Given the description of an element on the screen output the (x, y) to click on. 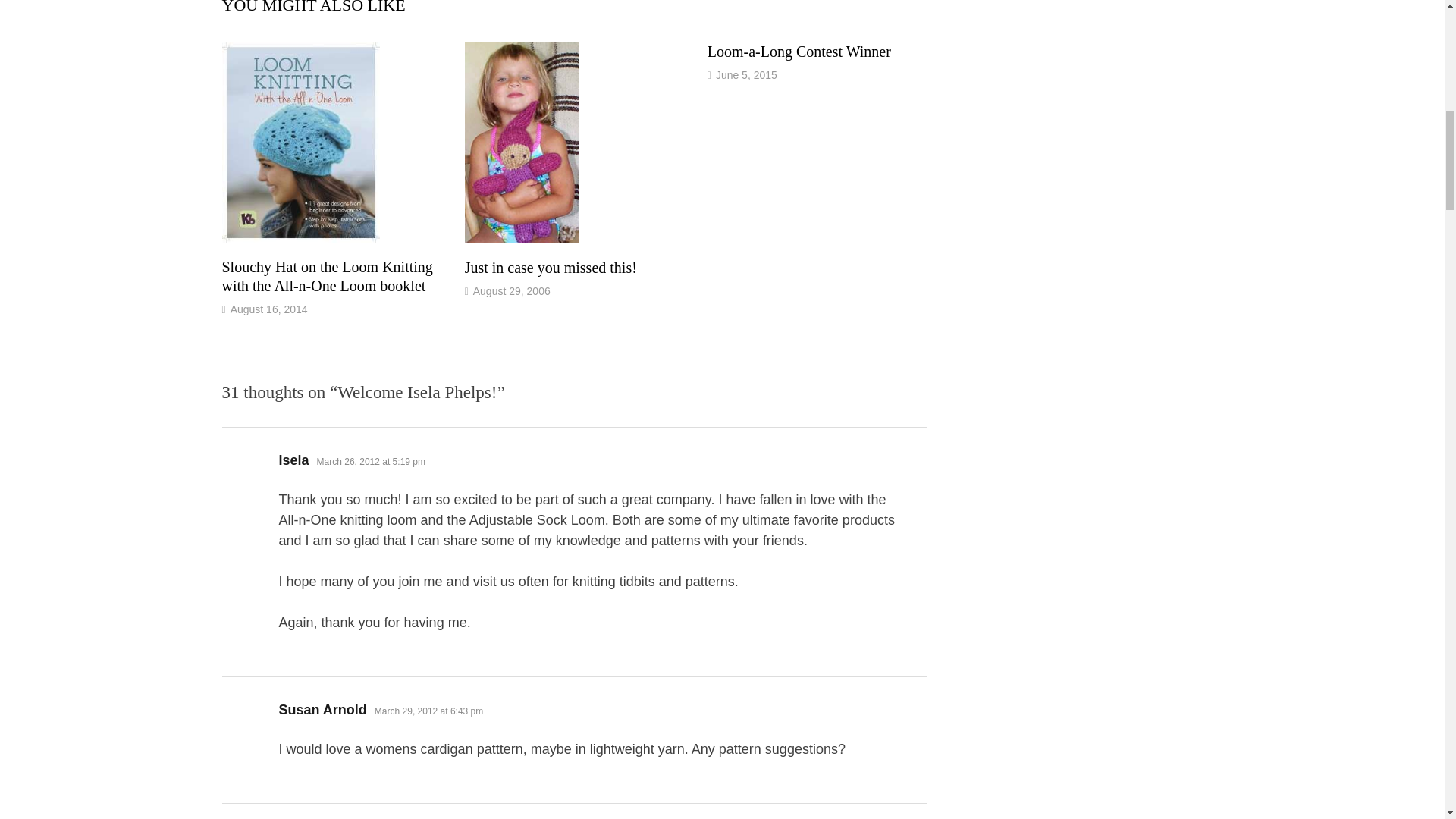
Just in case you missed this! (550, 267)
Loom-a-Long Contest Winner (799, 51)
